Given the description of an element on the screen output the (x, y) to click on. 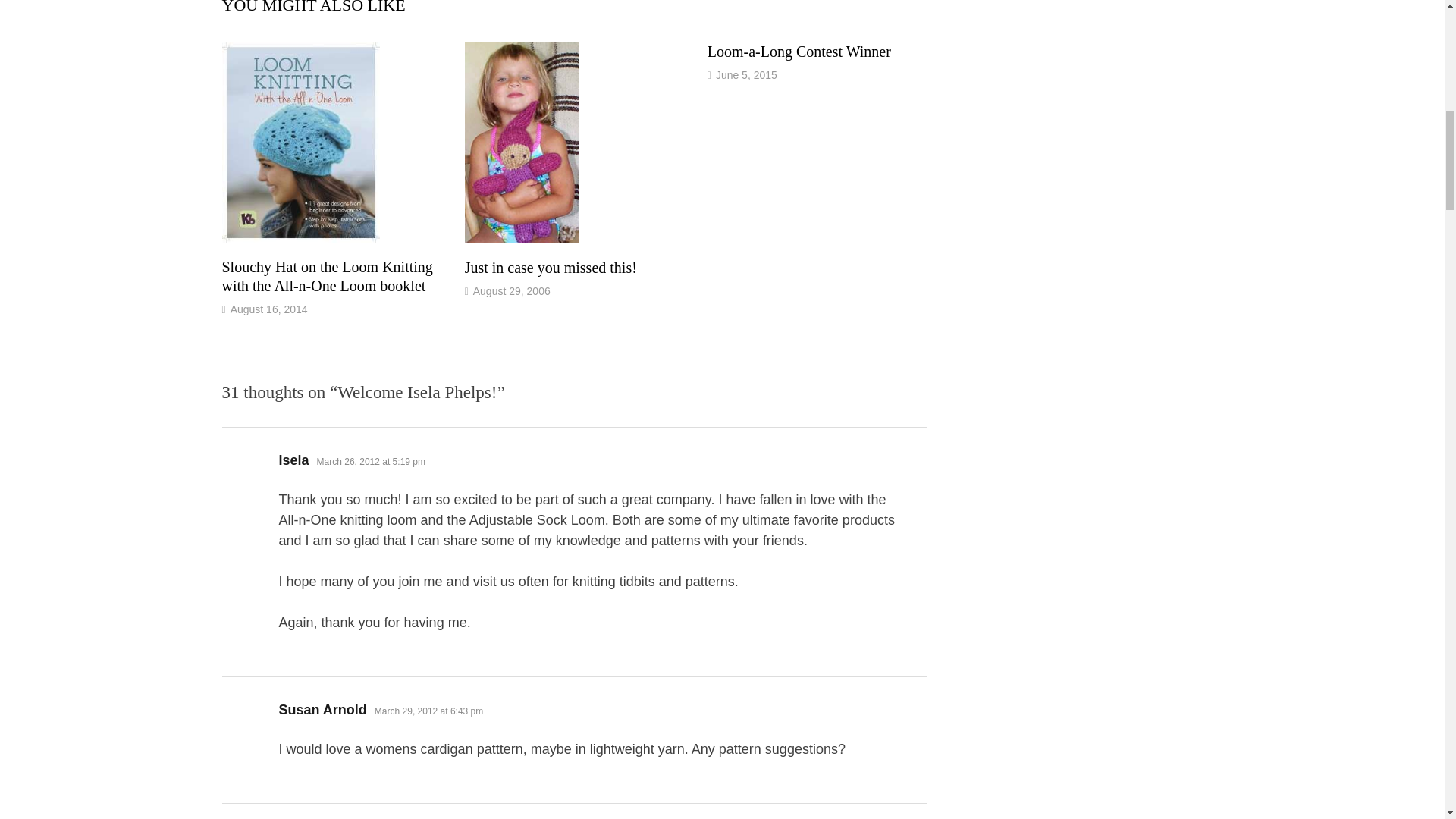
Just in case you missed this! (550, 267)
Loom-a-Long Contest Winner (799, 51)
